Given the description of an element on the screen output the (x, y) to click on. 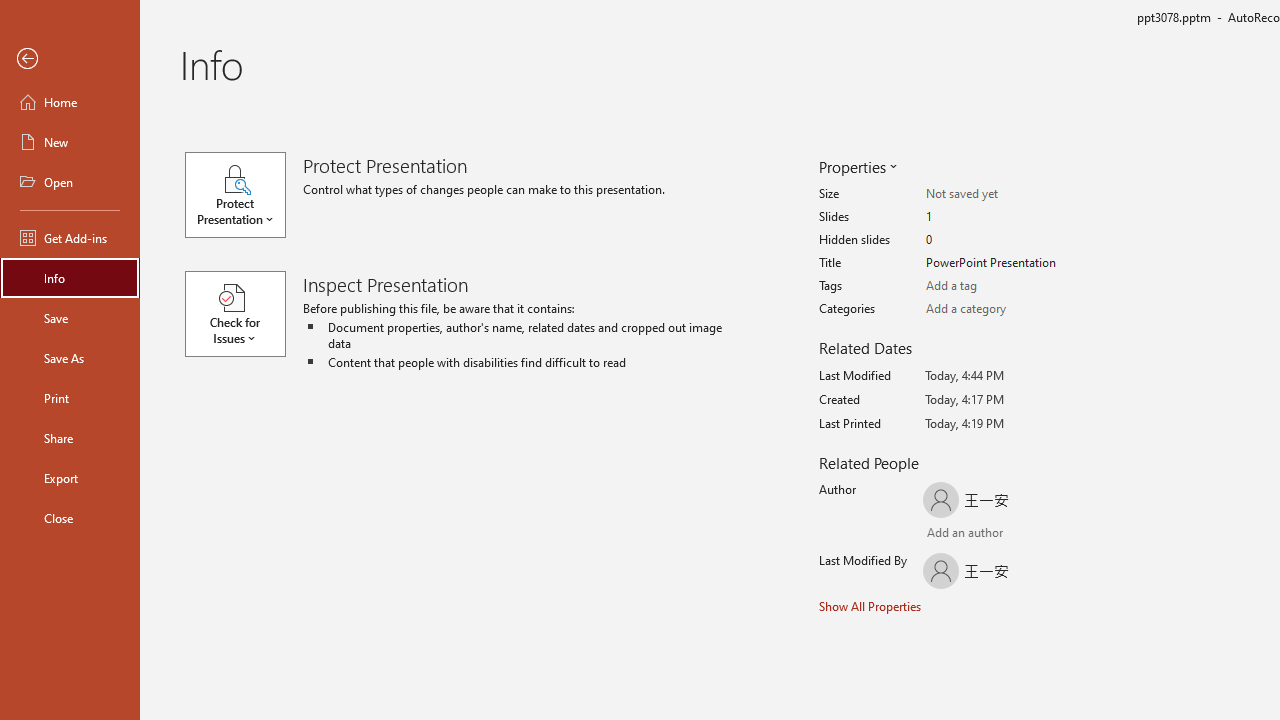
Verify Names (983, 534)
Size (1003, 194)
Properties (856, 166)
Slides (1003, 217)
New (69, 141)
Check for Issues (244, 313)
Back (69, 59)
Get Add-ins (69, 237)
Protect Presentation (244, 194)
Info (69, 277)
Save As (69, 357)
